Given the description of an element on the screen output the (x, y) to click on. 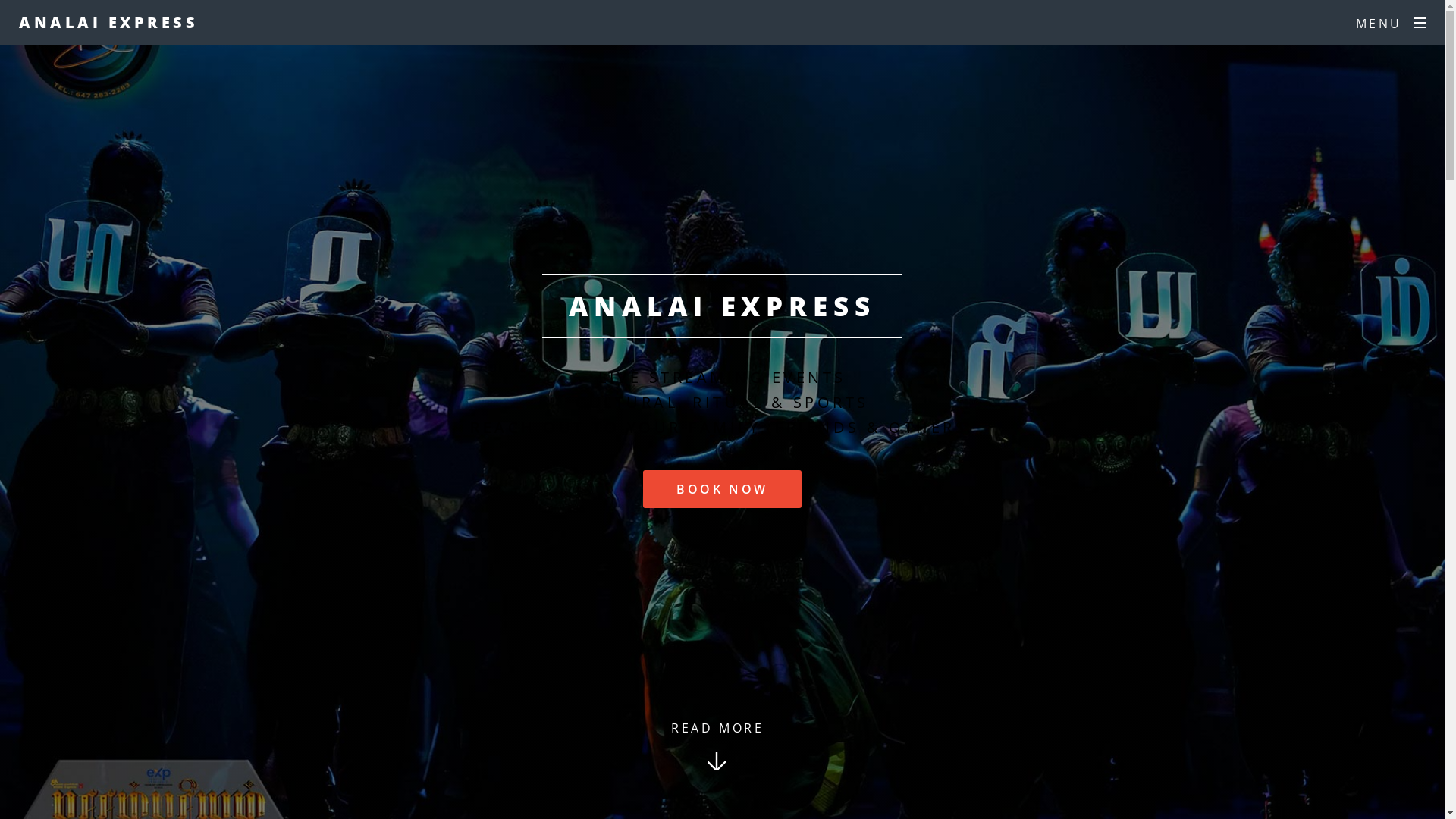
MENU Element type: text (1390, 23)
FAMILY, FRIENDS & OTHERS Element type: text (827, 427)
ANALAI EXPRESS Element type: text (107, 22)
BOOK NOW Element type: text (722, 489)
